Given the description of an element on the screen output the (x, y) to click on. 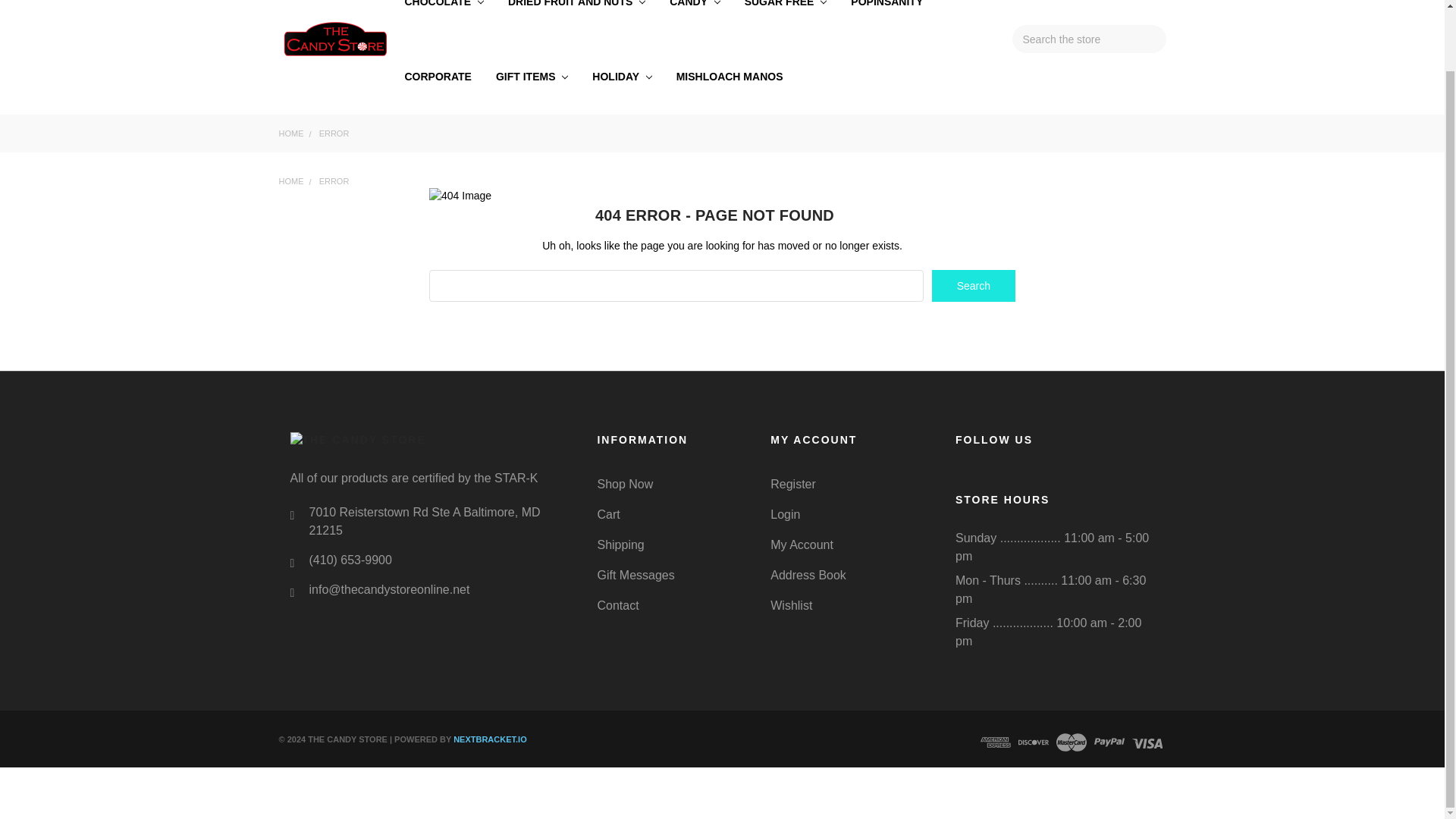
The Candy Store (336, 39)
The Candy Store (425, 439)
CHOCOLATE (444, 19)
DRIED FRUIT AND NUTS (577, 19)
CANDY (695, 19)
Search (972, 286)
SUGAR FREE (786, 19)
